Given the description of an element on the screen output the (x, y) to click on. 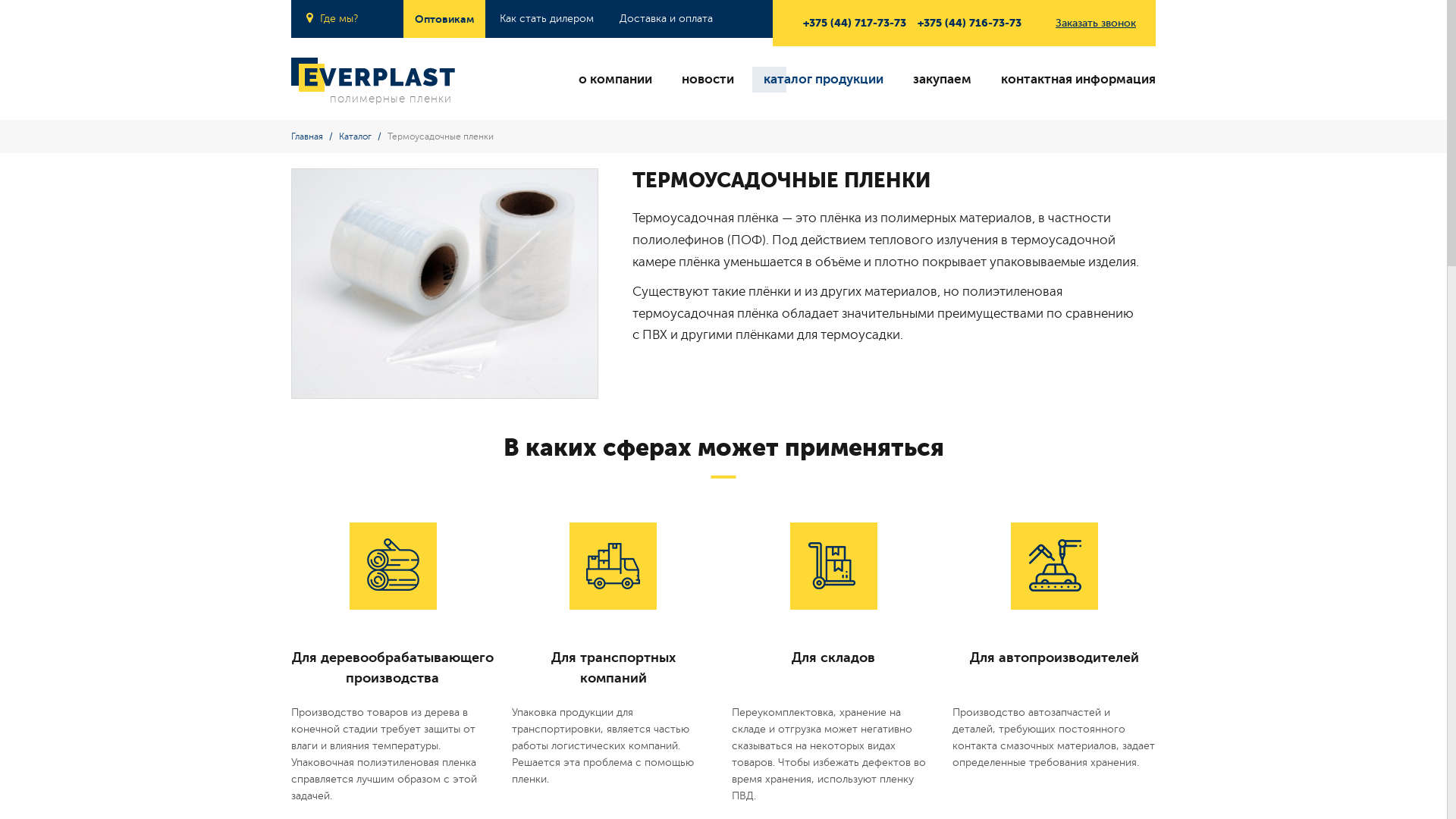
+375 (44) 716-73-73 Element type: text (969, 22)
+375 (44) 717-73-73 Element type: text (854, 22)
